Given the description of an element on the screen output the (x, y) to click on. 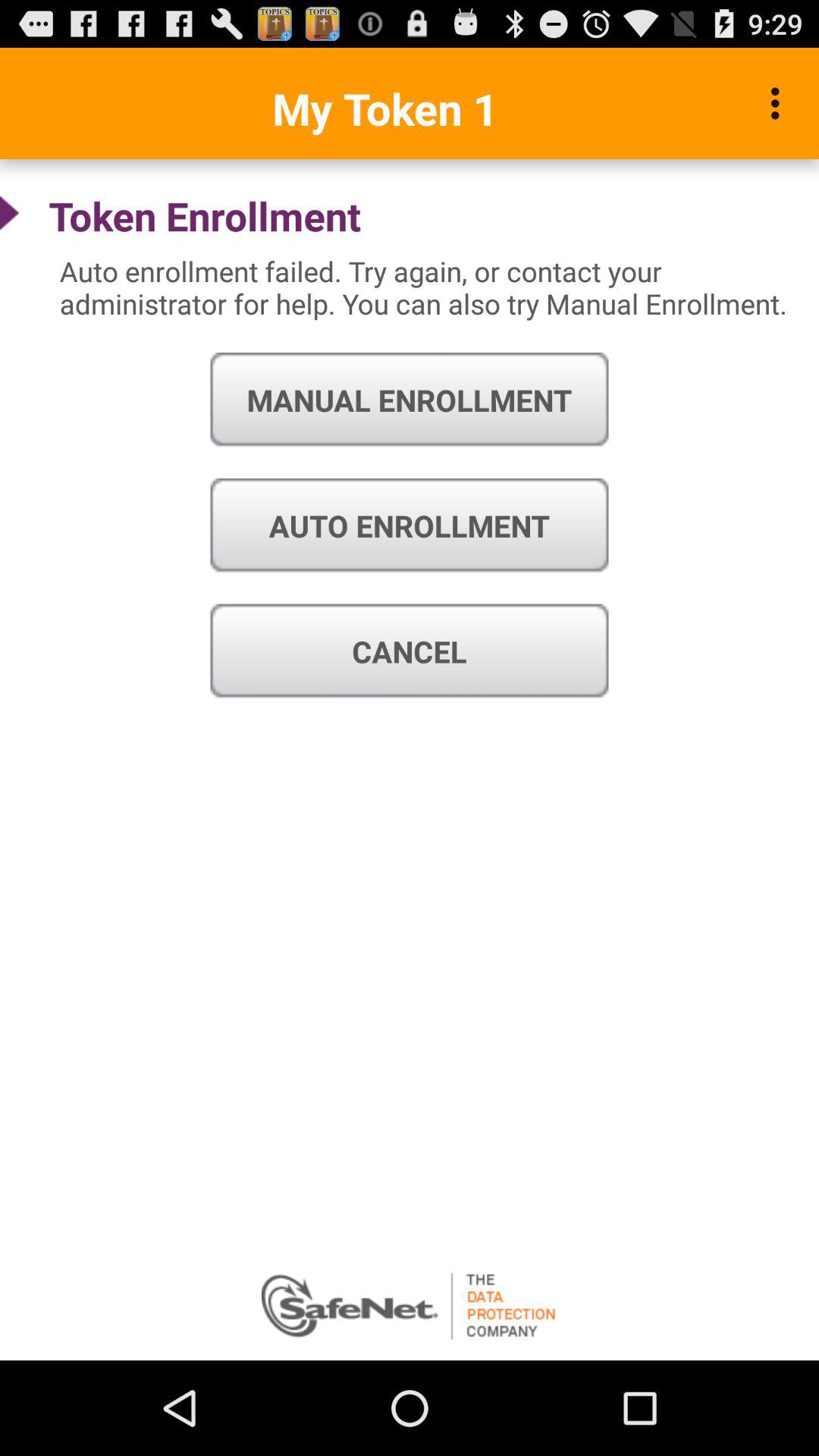
turn off the item below auto enrollment icon (409, 651)
